Given the description of an element on the screen output the (x, y) to click on. 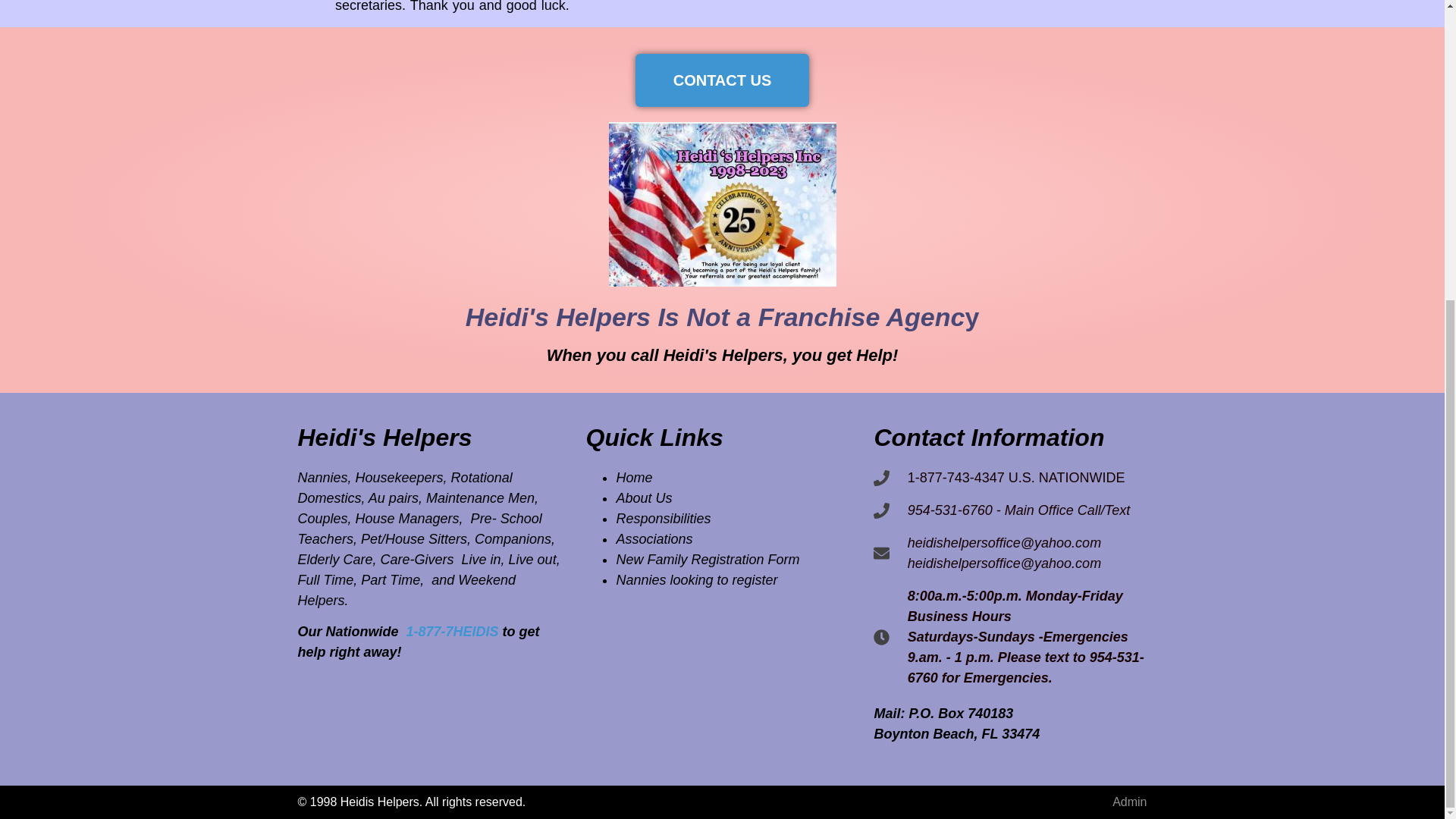
About Us (643, 498)
Responsibilities (662, 518)
CONTACT US (721, 80)
1-877-7HEIDIS (451, 631)
Home (633, 477)
Associations (654, 539)
